Given the description of an element on the screen output the (x, y) to click on. 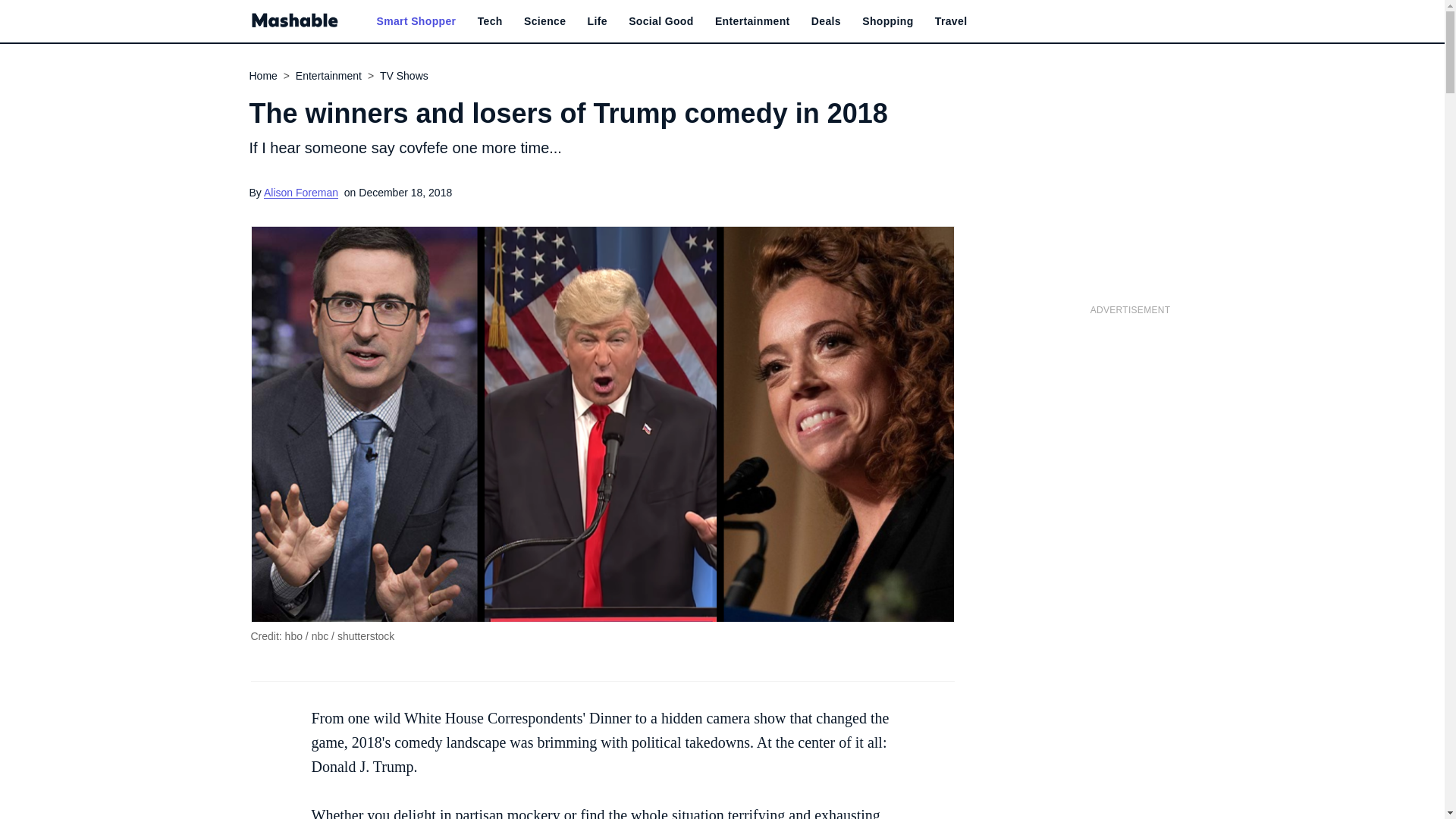
Entertainment (752, 21)
Social Good (661, 21)
Smart Shopper (415, 21)
Tech (489, 21)
Science (545, 21)
Shopping (886, 21)
Deals (825, 21)
Travel (951, 21)
Life (597, 21)
